Given the description of an element on the screen output the (x, y) to click on. 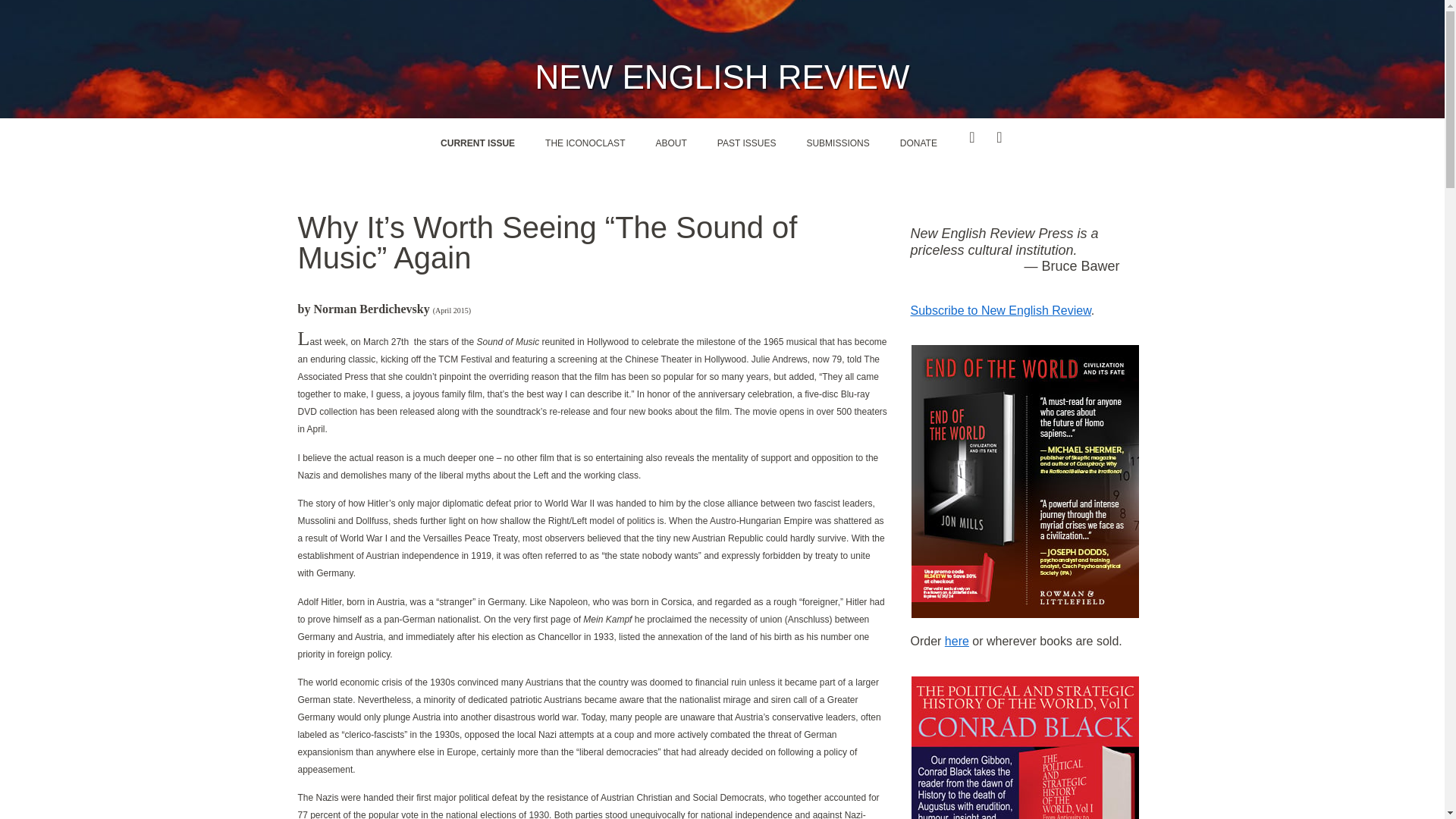
PAST ISSUES (746, 143)
THE ICONOCLAST (584, 143)
ABOUT (670, 143)
NEW ENGLISH REVIEW (722, 76)
DONATE (918, 143)
SUBMISSIONS (836, 143)
CURRENT ISSUE (477, 143)
